Given the description of an element on the screen output the (x, y) to click on. 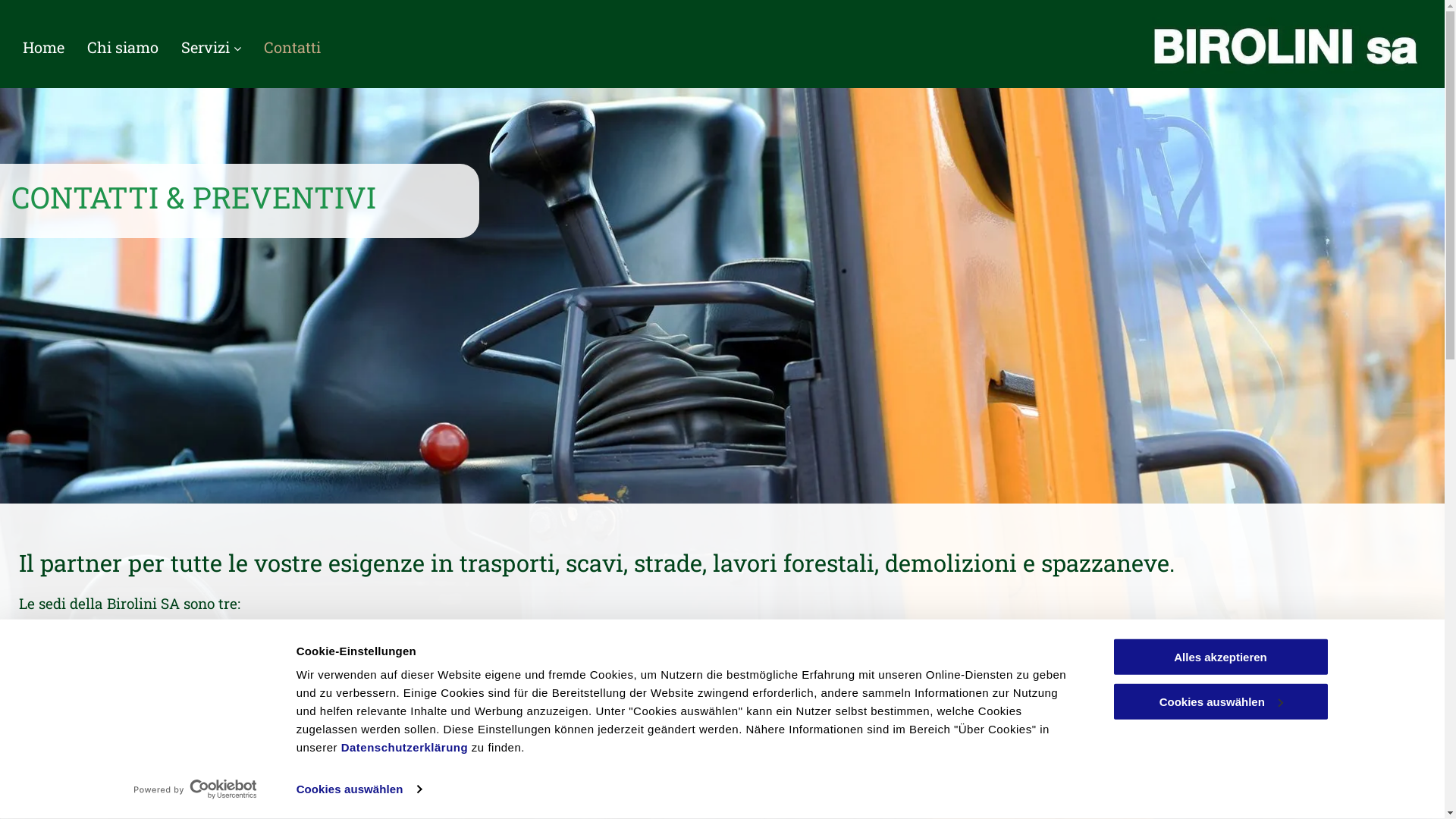
Contatti Element type: text (291, 46)
Servizi Element type: text (211, 46)
Chi siamo Element type: text (122, 46)
Alles akzeptieren Element type: text (1219, 656)
Home Element type: text (43, 46)
